Given the description of an element on the screen output the (x, y) to click on. 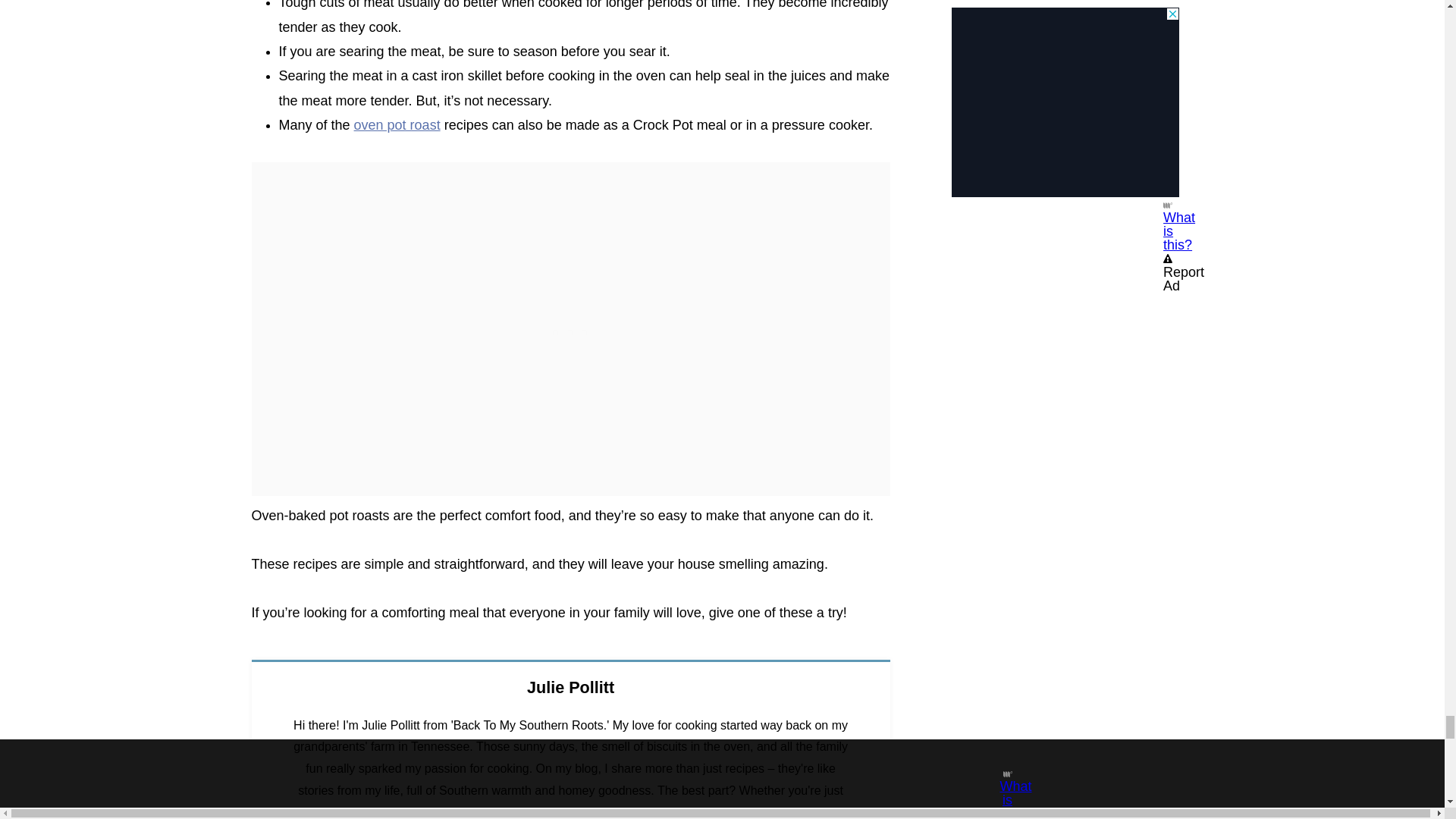
Posts by Julie Pollitt (570, 687)
